Given the description of an element on the screen output the (x, y) to click on. 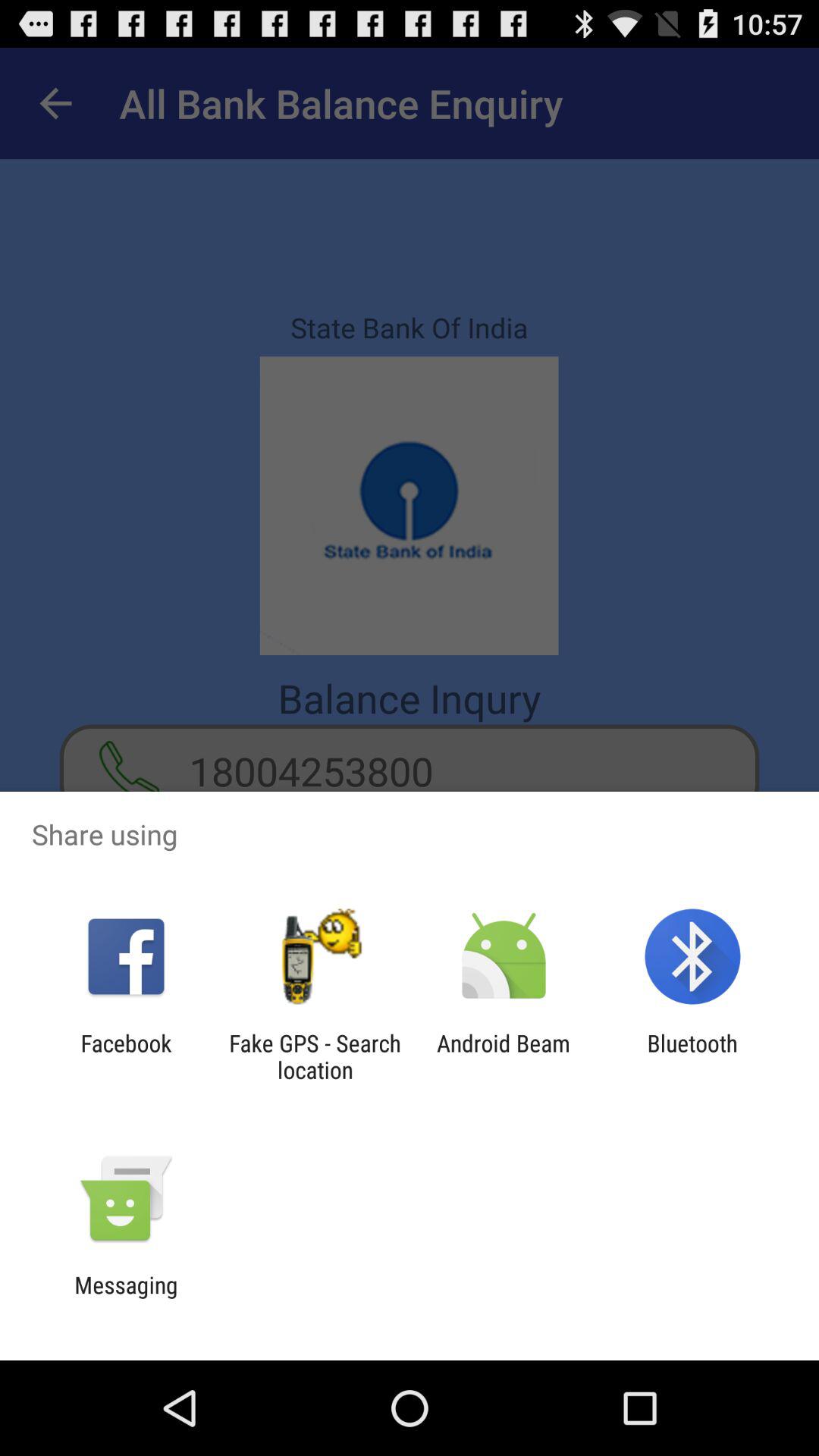
select the app next to android beam app (692, 1056)
